Given the description of an element on the screen output the (x, y) to click on. 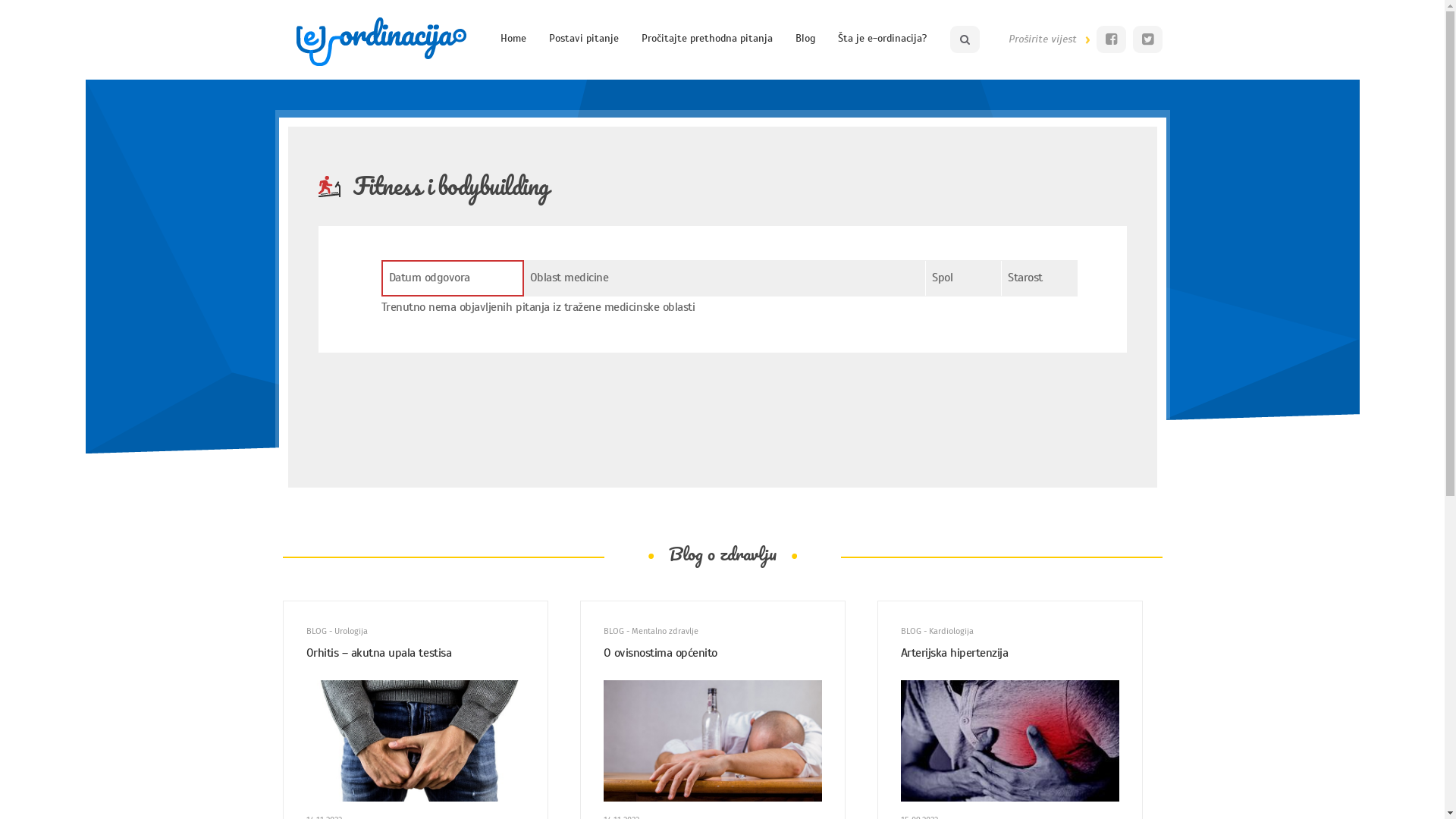
Arterijska hipertenzija Element type: text (1009, 653)
Podjeli vijest na facebook Element type: hover (1111, 39)
Blog Element type: text (804, 38)
Home Element type: text (513, 38)
Podjeli vijest na twitter Element type: hover (1147, 39)
Postavi pitanje Element type: text (583, 38)
